Given the description of an element on the screen output the (x, y) to click on. 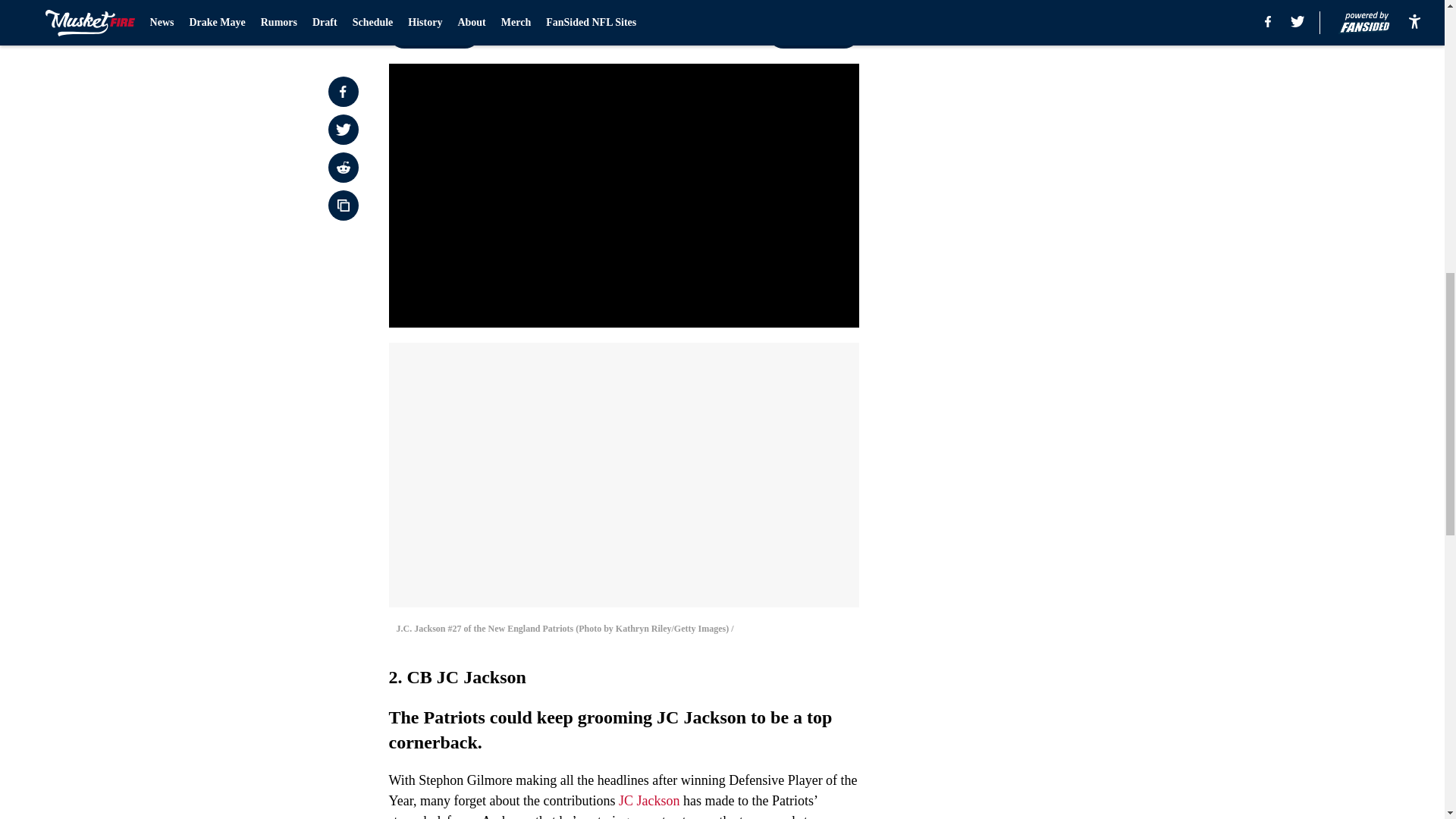
Prev (433, 33)
Next (813, 33)
JC Jackson (648, 800)
